Given the description of an element on the screen output the (x, y) to click on. 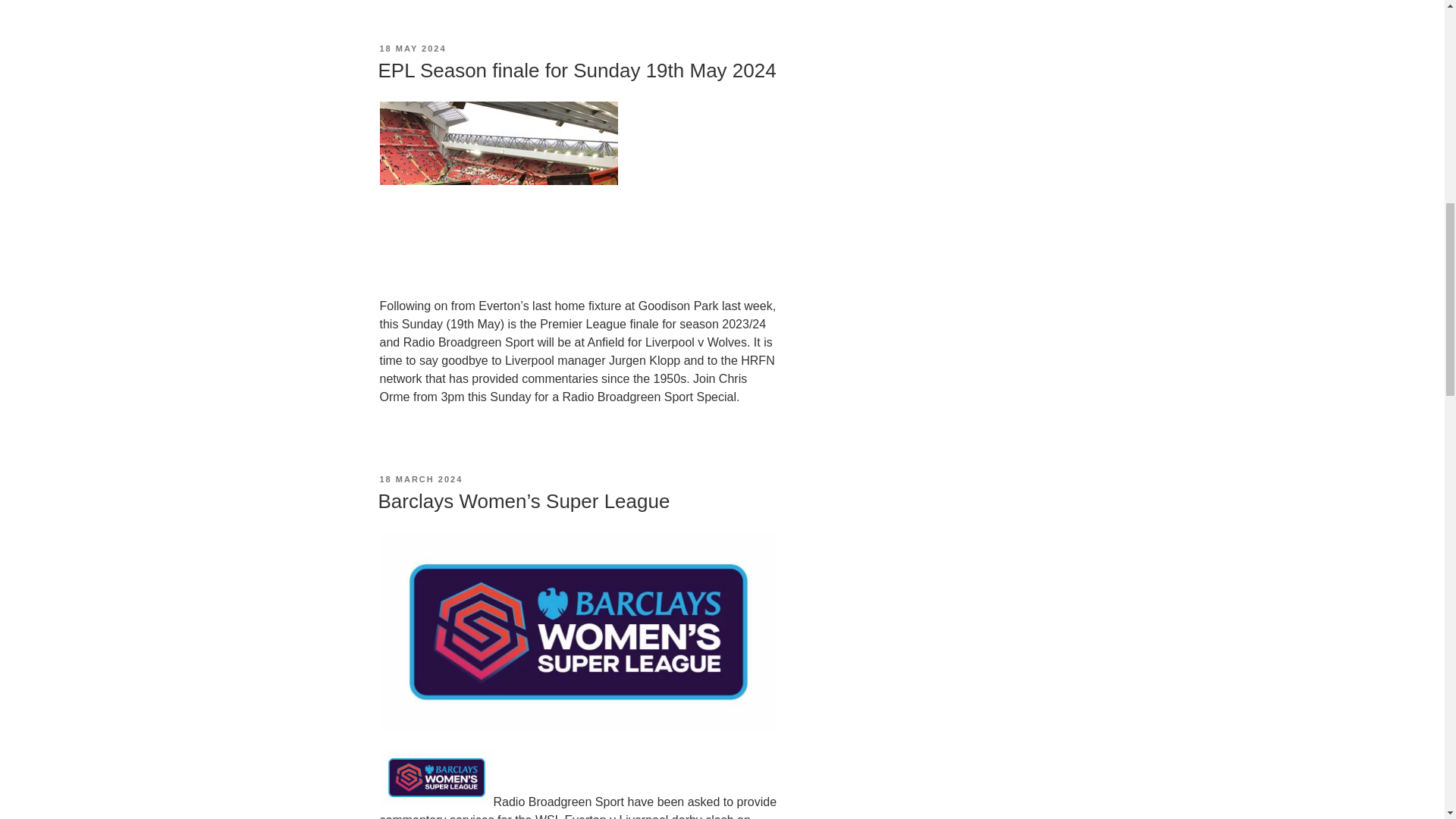
EPL Season finale for Sunday 19th May 2024 (576, 69)
18 MARCH 2024 (420, 479)
18 MAY 2024 (411, 48)
